Given the description of an element on the screen output the (x, y) to click on. 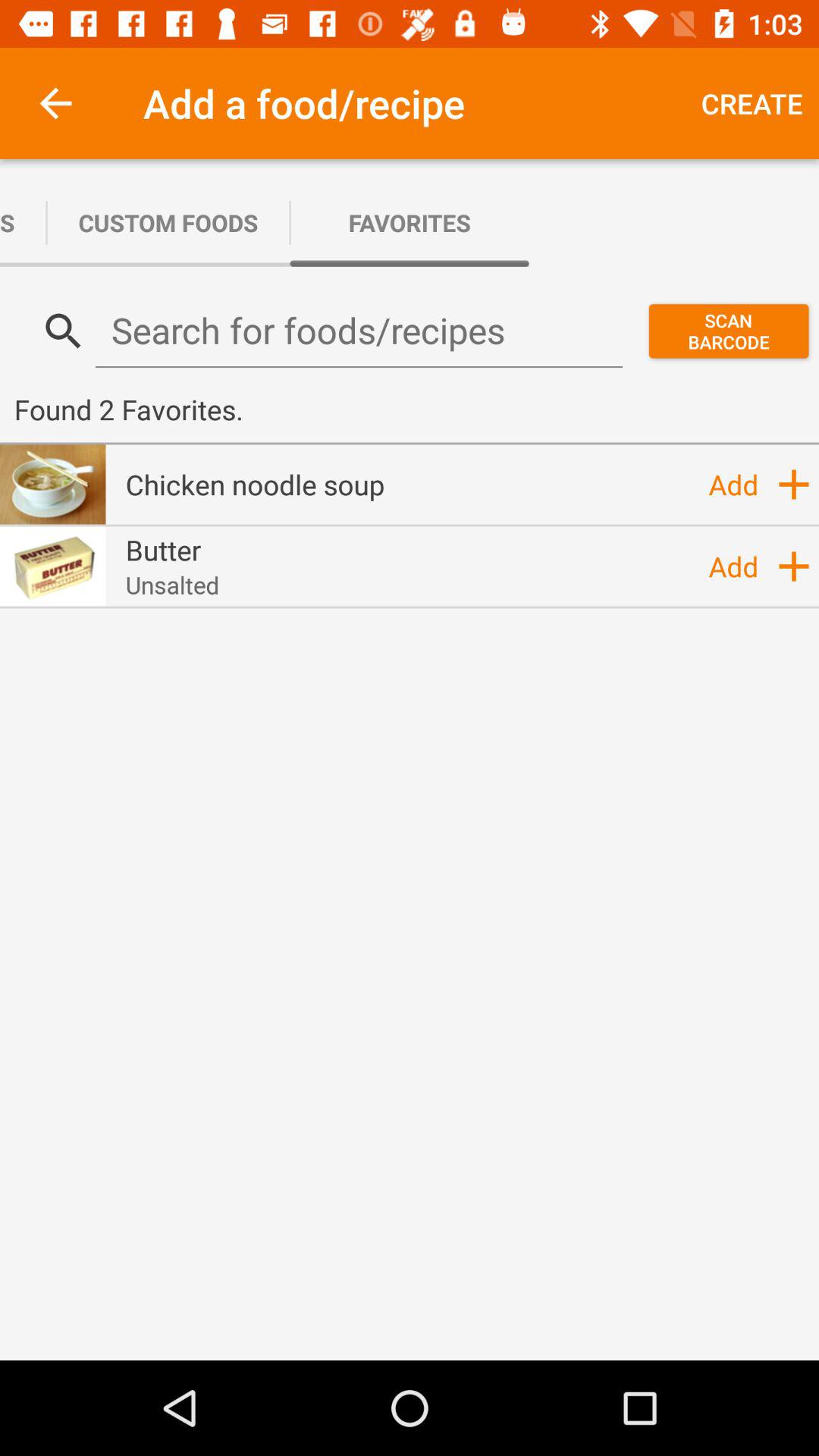
select the chicken noodle soup (254, 484)
